Given the description of an element on the screen output the (x, y) to click on. 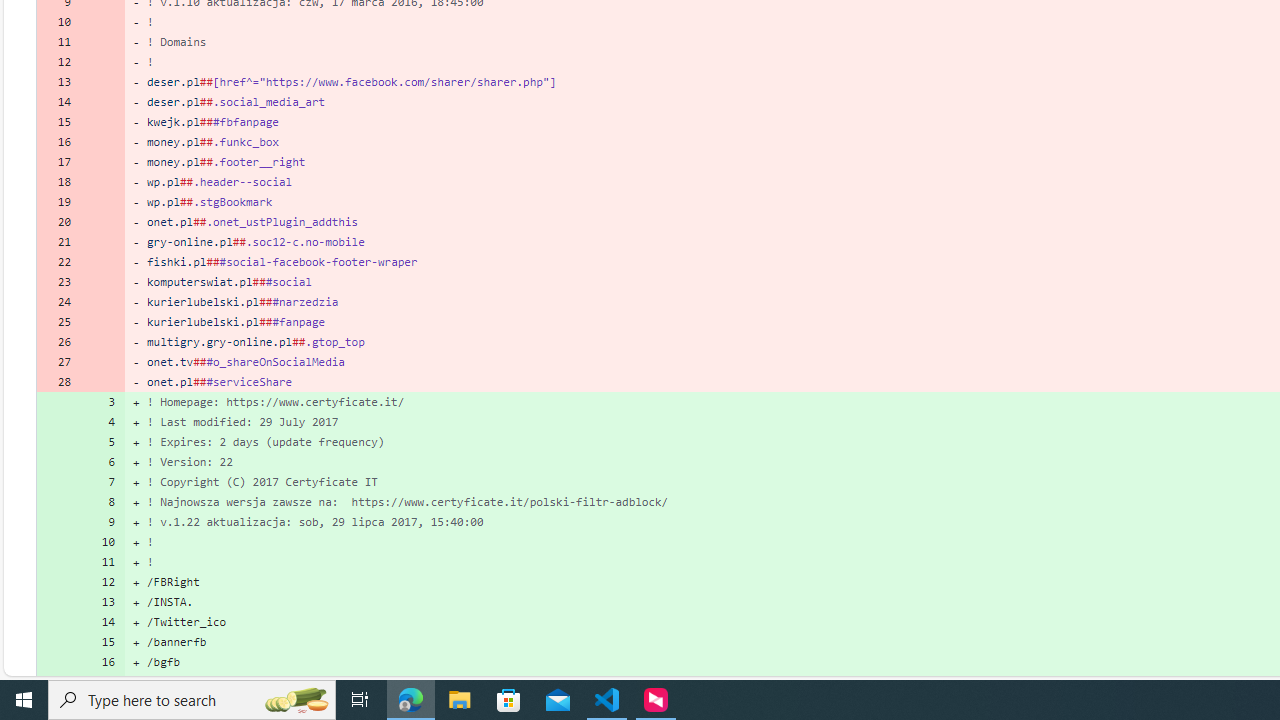
21 (58, 241)
3 (102, 401)
18 (58, 182)
6 (102, 462)
4 (102, 421)
9 (102, 521)
16 (102, 661)
Class: blob-num blob-num-deletion empty-cell (102, 381)
14 (102, 622)
11 (102, 561)
12 (102, 581)
28 (58, 381)
26 (58, 341)
Class: blob-num blob-num-addition empty-cell (58, 681)
27 (58, 362)
